Given the description of an element on the screen output the (x, y) to click on. 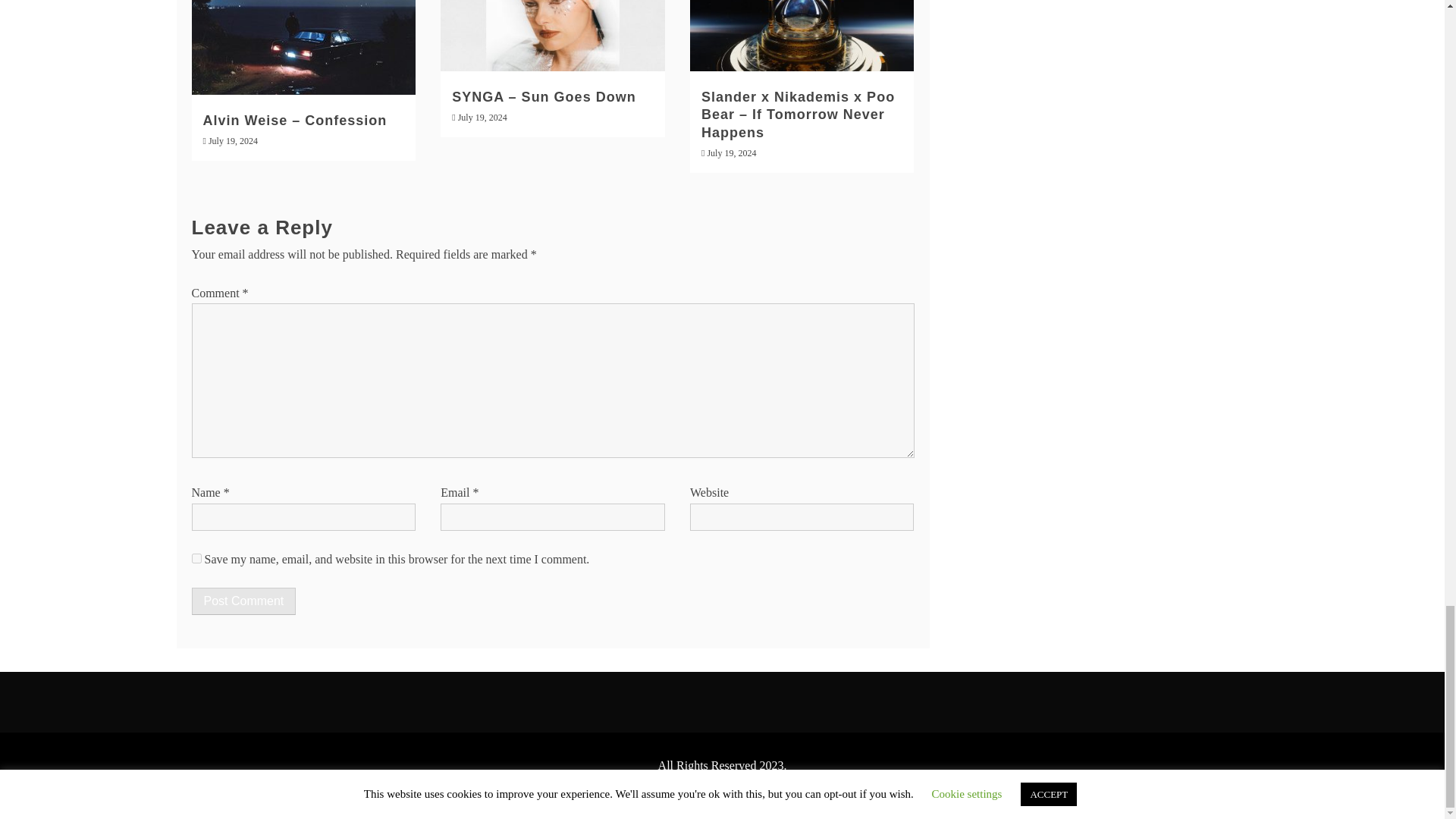
yes (195, 557)
Post Comment (242, 601)
